Given the description of an element on the screen output the (x, y) to click on. 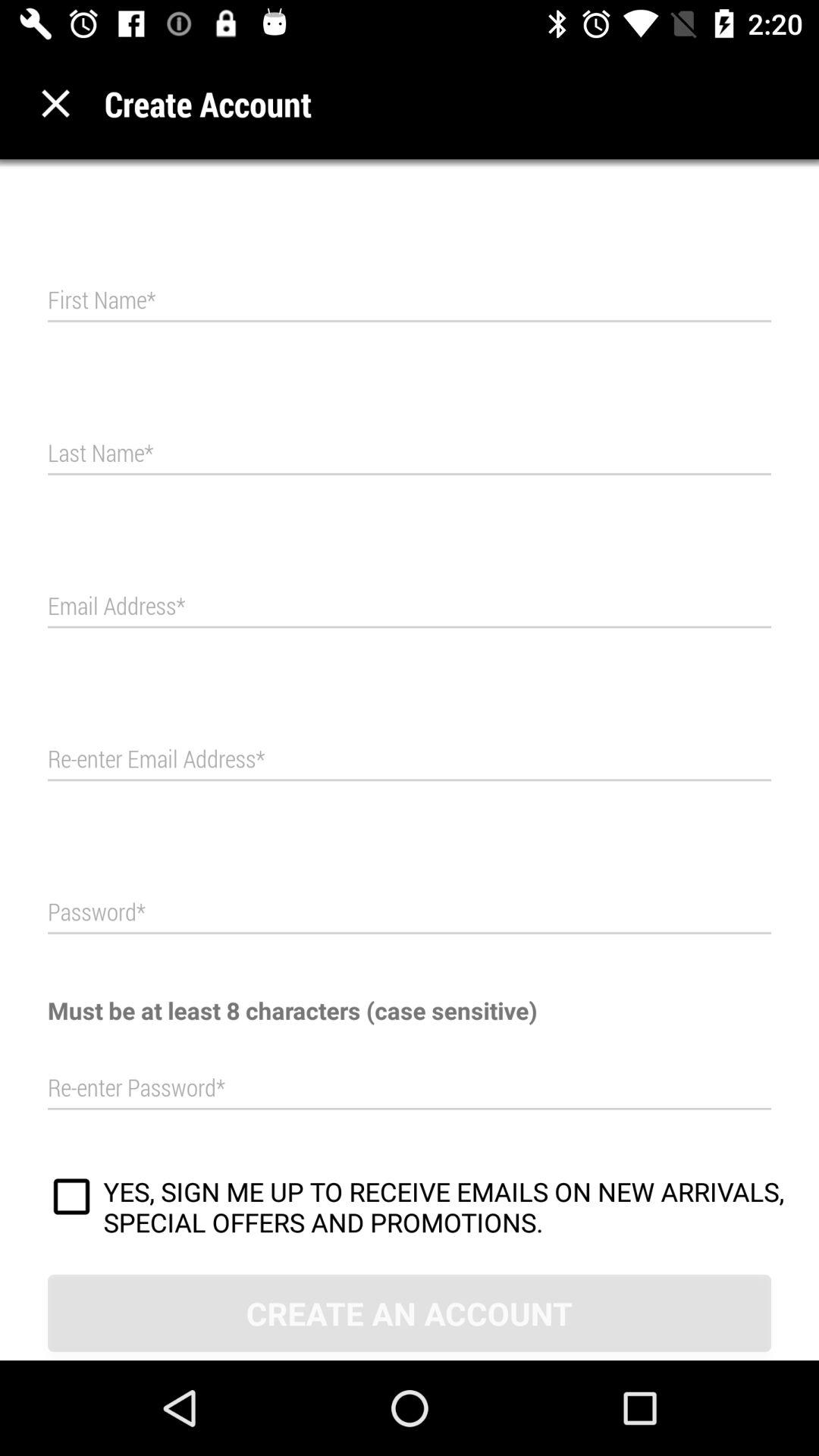
close (55, 103)
